Given the description of an element on the screen output the (x, y) to click on. 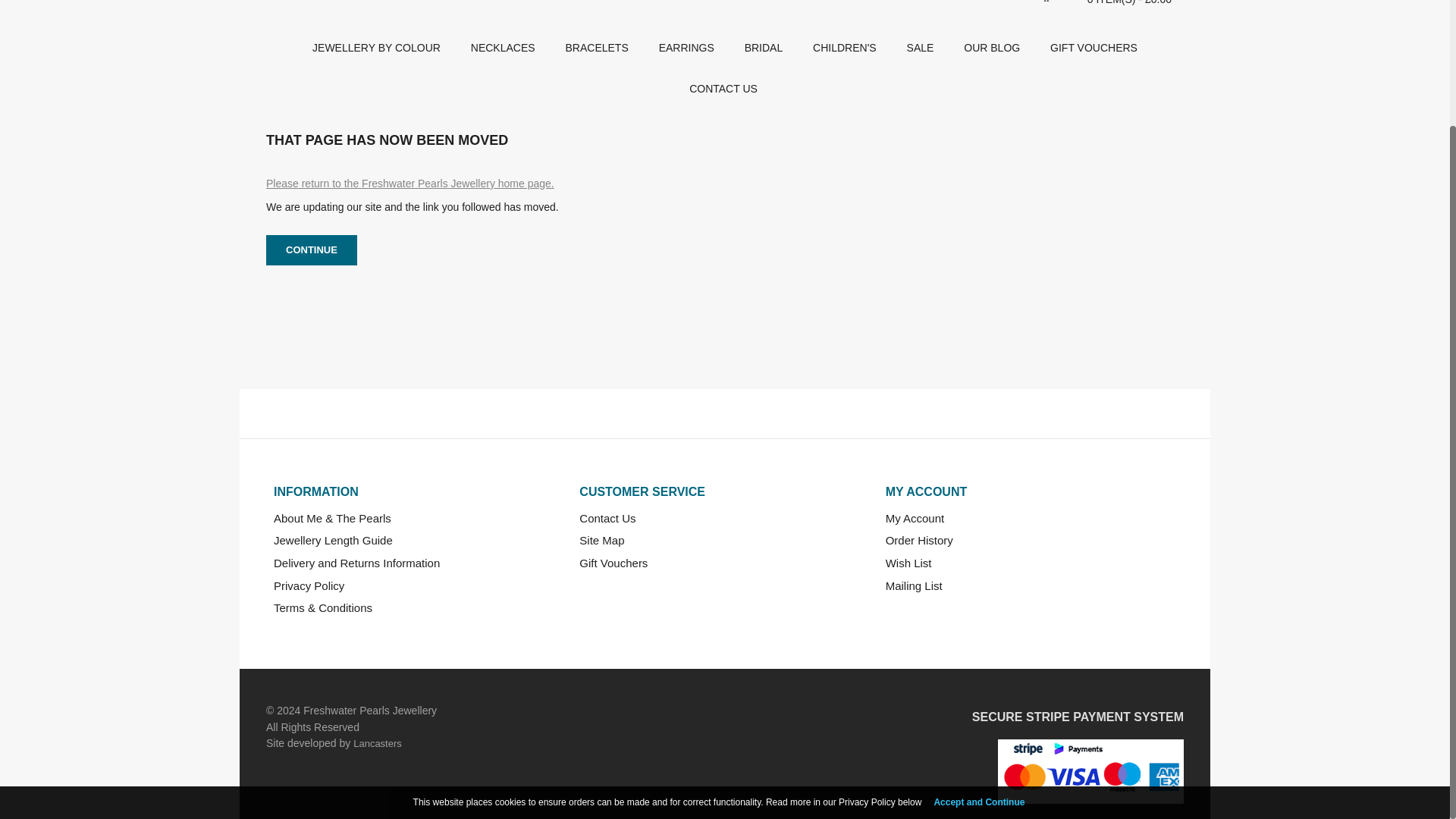
NECKLACES (502, 46)
JEWELLERY BY COLOUR (376, 46)
BRACELETS (596, 46)
